Given the description of an element on the screen output the (x, y) to click on. 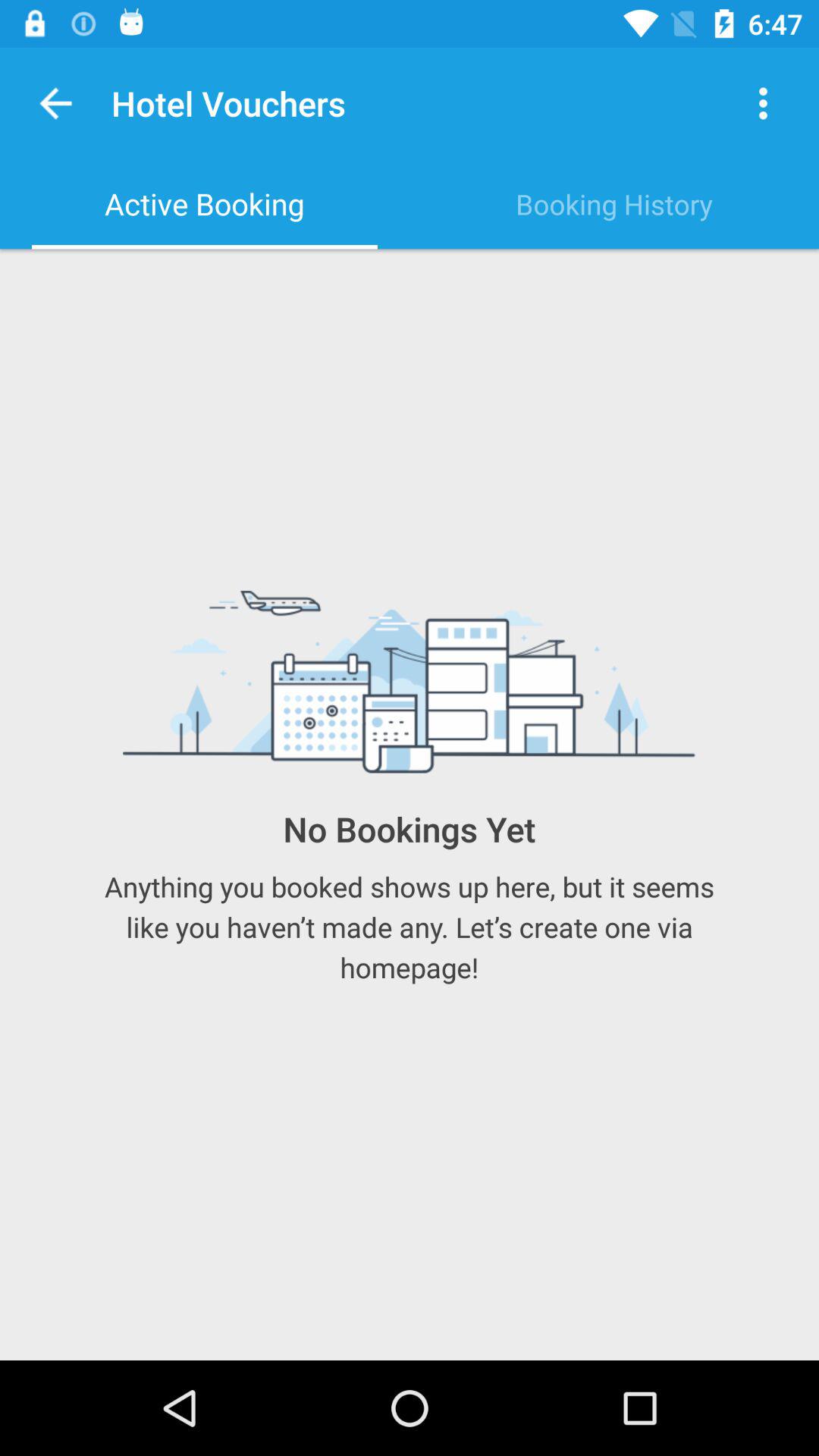
click active booking item (204, 204)
